Given the description of an element on the screen output the (x, y) to click on. 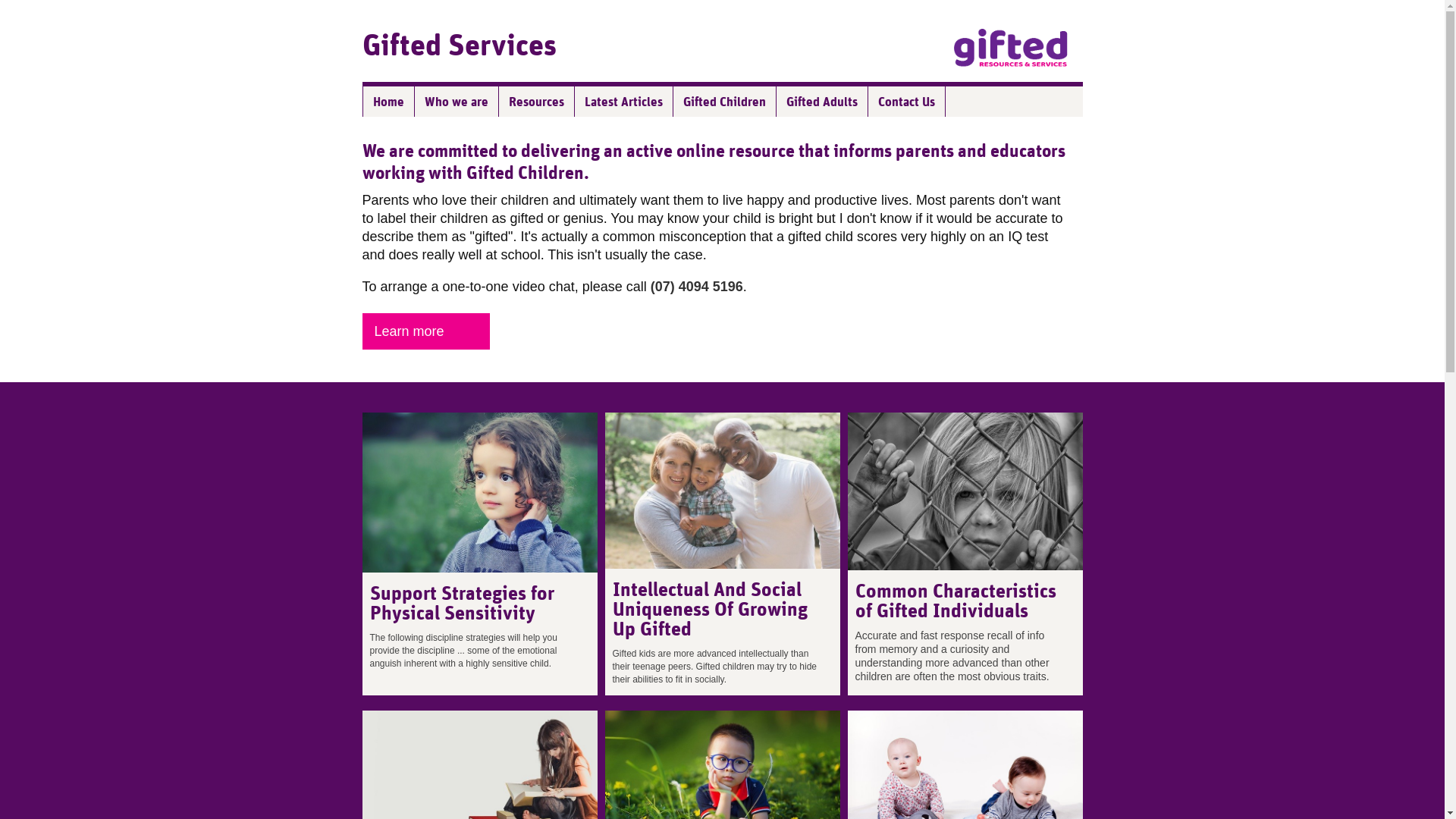
Learn more Element type: text (425, 331)
Latest Articles Element type: text (623, 101)
Home Element type: text (388, 101)
Resources Element type: text (536, 101)
Contact Us Element type: text (905, 101)
Gifted Adults Element type: text (822, 101)
Who we are Element type: text (456, 101)
Gifted Children Element type: text (724, 101)
